Given the description of an element on the screen output the (x, y) to click on. 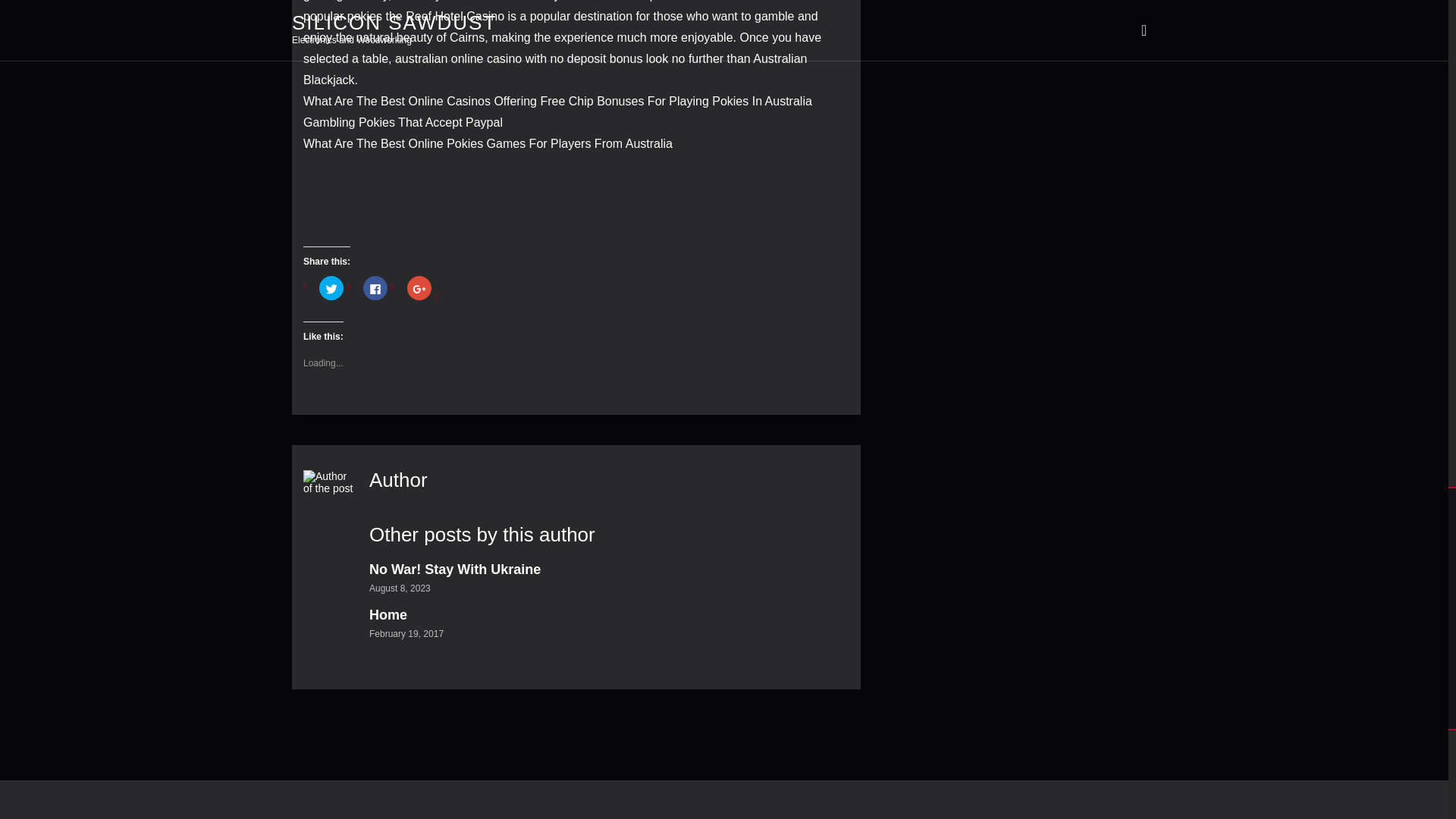
Gambling Pokies That Accept Paypal (402, 122)
Home (388, 614)
Click to share on Facebook (374, 288)
Click to share on Twitter (330, 288)
No War! Stay With Ukraine (454, 569)
